Given the description of an element on the screen output the (x, y) to click on. 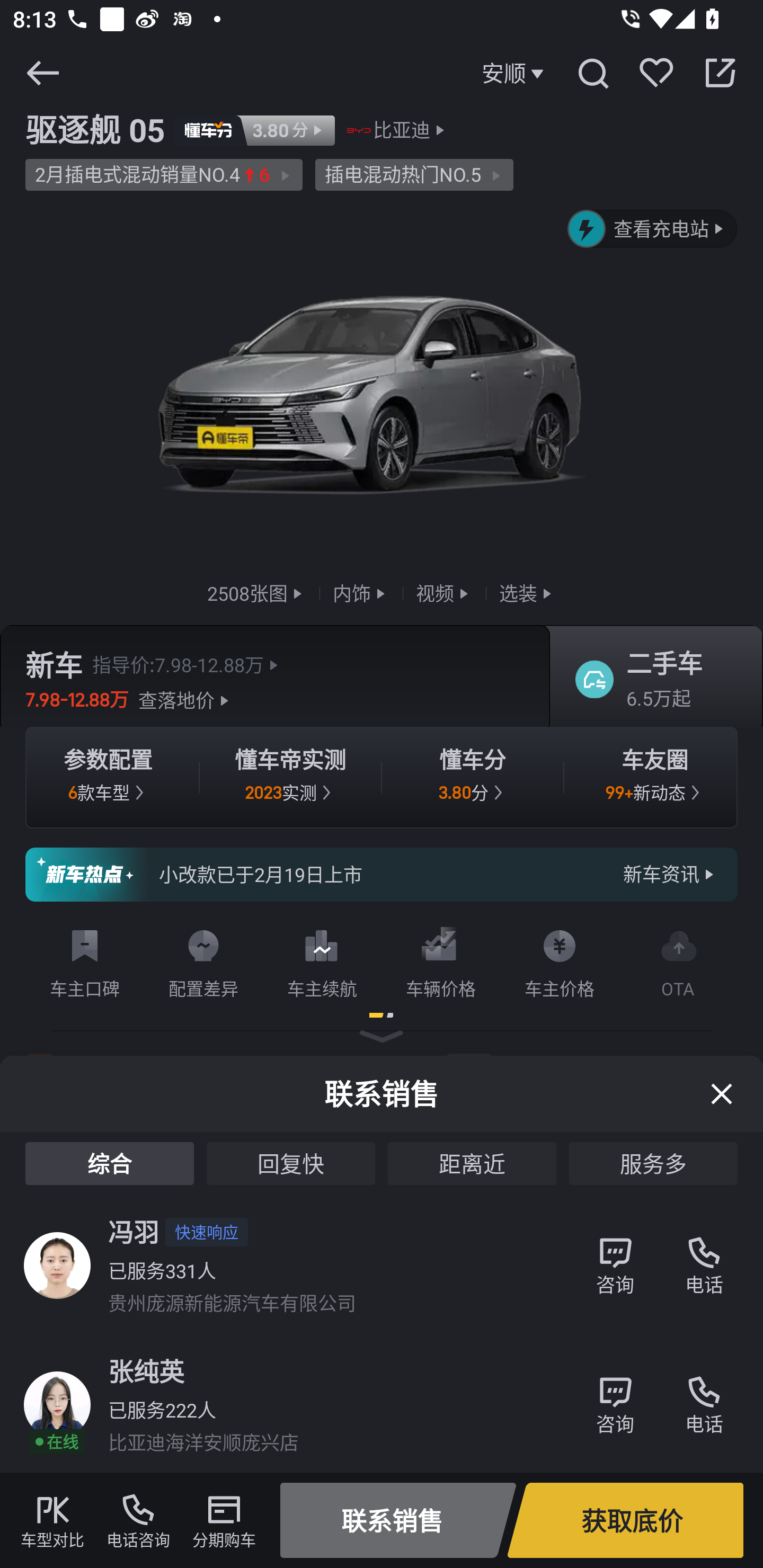
 (42, 72)
 (592, 72)
 (720, 72)
安顺 (514, 73)
比亚迪 (401, 130)
2月插电式混动销量NO.46  (163, 174)
插电混动热门NO.5  (414, 174)
查看充电站  (652, 228)
2508张图 (256, 592)
内饰 (360, 592)
视频 (444, 592)
选装 (527, 592)
二手车 6.5万起 (650, 679)
指导价:7.98-12.88万 (187, 664)
查落地价 (185, 699)
参数配置 6 款车型  (107, 777)
懂车帝实测 2023 实测  (290, 777)
懂车分 3.80 分  (472, 777)
车友圈 99+ 新动态  (654, 777)
小改款已于2月19日上市 新车资讯 (381, 874)
车主口碑 (84, 960)
配置差异 (203, 960)
车主续航 (321, 960)
车辆价格 (440, 960)
车主价格 (559, 960)
OTA (677, 960)
 (721, 1093)
综合 (109, 1163)
回复快 (290, 1163)
距离近 (471, 1163)
服务多 (653, 1163)
冯羽 (133, 1232)
 咨询 (614, 1255)
 电话 (704, 1255)
已服务331人 (161, 1270)
张纯英 (146, 1370)
 咨询 (614, 1395)
 电话 (704, 1395)
已服务222人 (161, 1409)
车型对比 (52, 1520)
电话咨询 (138, 1520)
分期购车 (224, 1520)
联系销售 (398, 1519)
获取底价 (625, 1519)
